Given the description of an element on the screen output the (x, y) to click on. 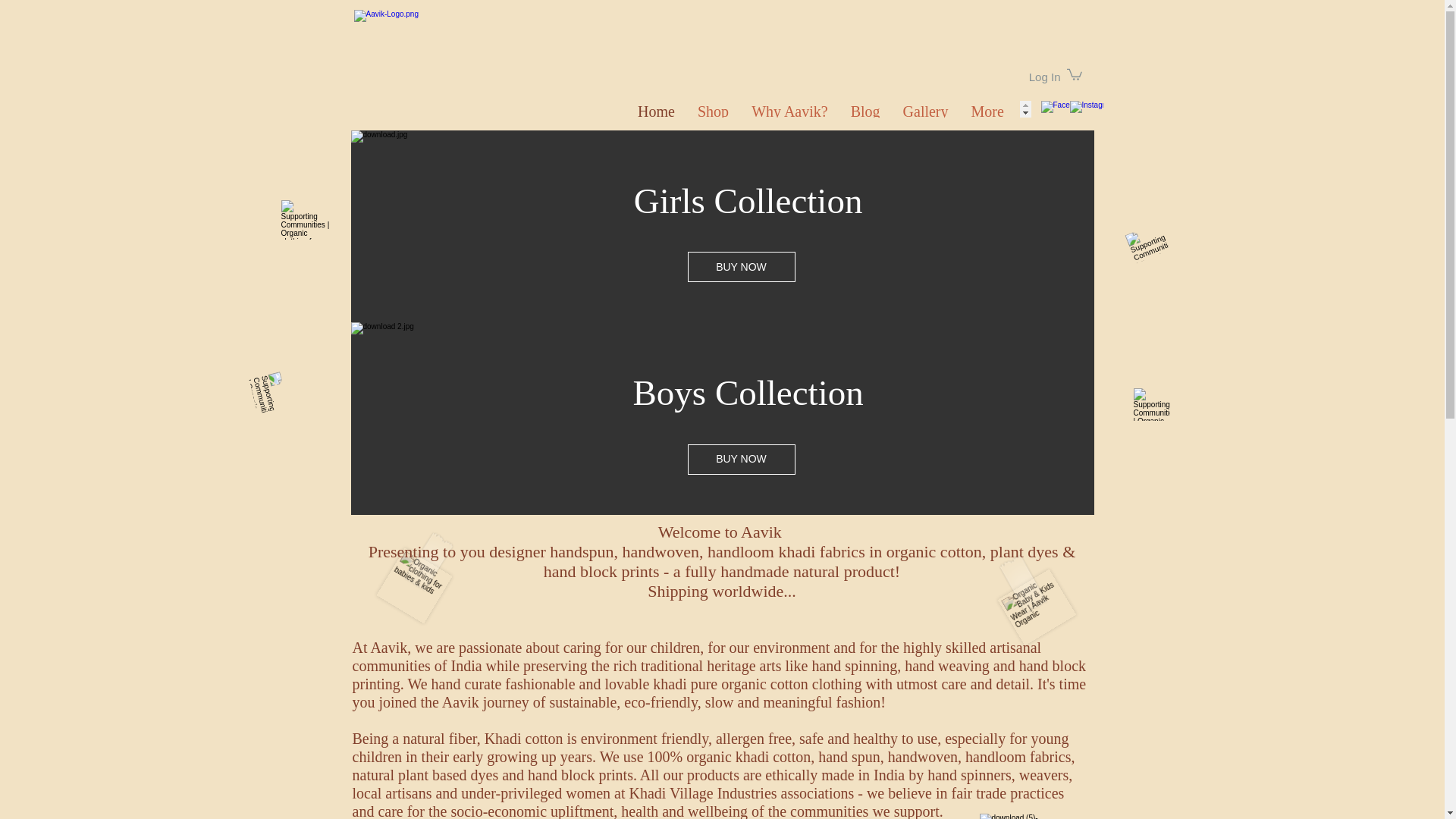
BUY NOW (740, 459)
Home (655, 108)
Shop (712, 108)
BUY NOW (740, 266)
Log In (1044, 76)
Gallery (925, 108)
Why Aavik? (789, 108)
Blog (865, 108)
